Given the description of an element on the screen output the (x, y) to click on. 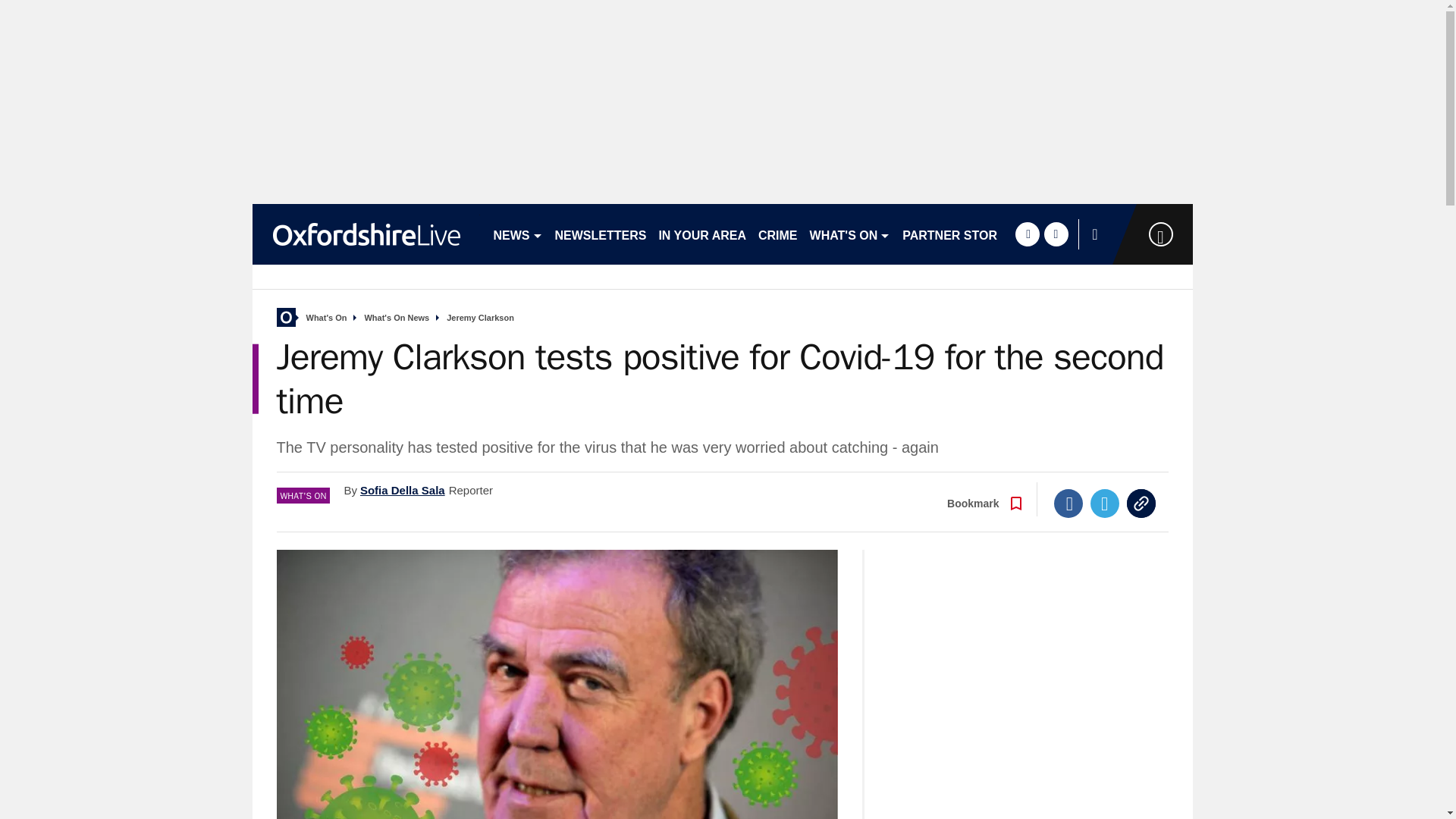
twitter (1055, 233)
Twitter (1104, 502)
oxfordshirelive (365, 233)
PARTNER STORIES (959, 233)
NEWS (517, 233)
Facebook (1068, 502)
NEWSLETTERS (600, 233)
WHAT'S ON (849, 233)
facebook (1026, 233)
IN YOUR AREA (702, 233)
